Given the description of an element on the screen output the (x, y) to click on. 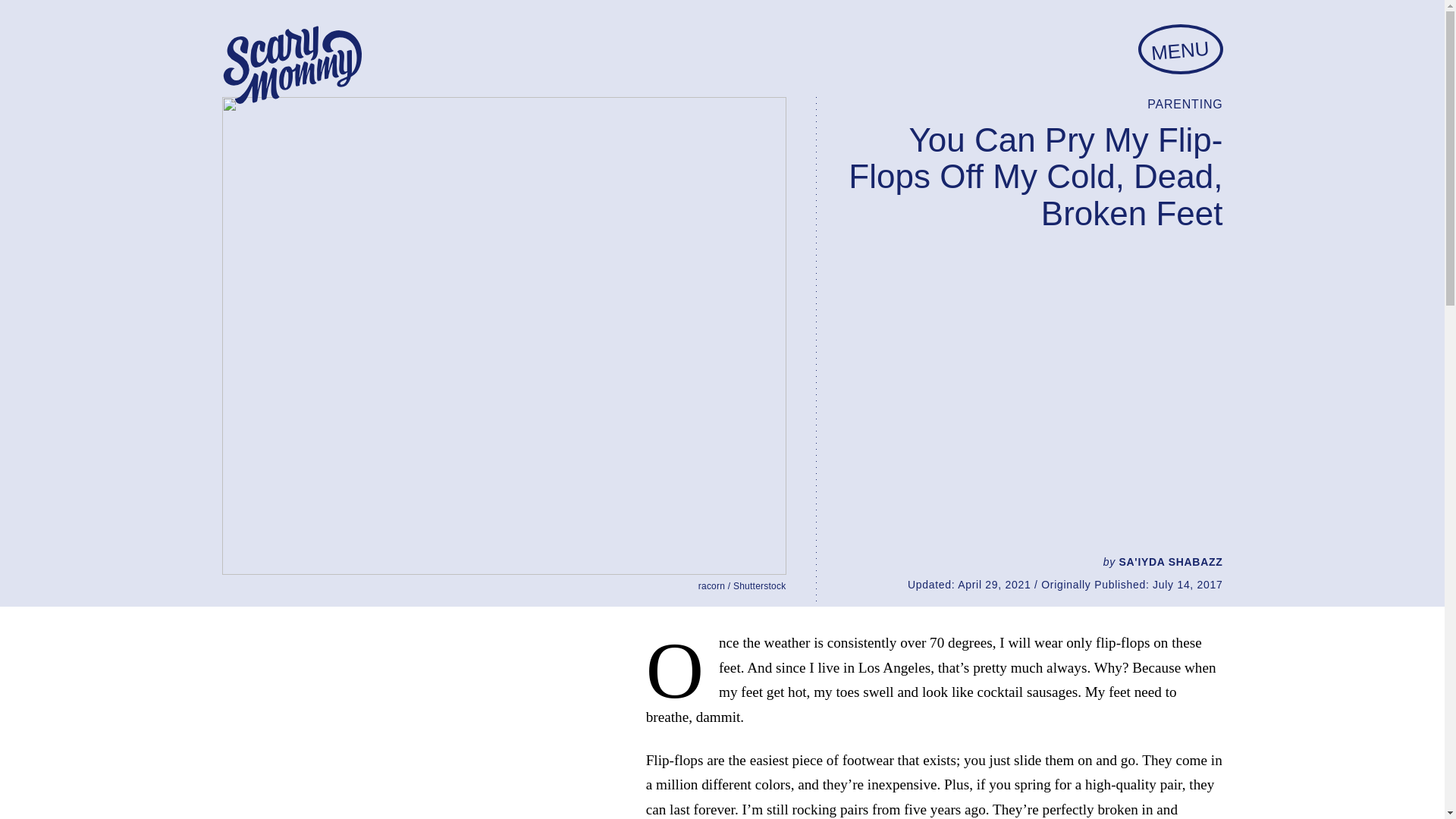
Scary Mommy (291, 64)
